Given the description of an element on the screen output the (x, y) to click on. 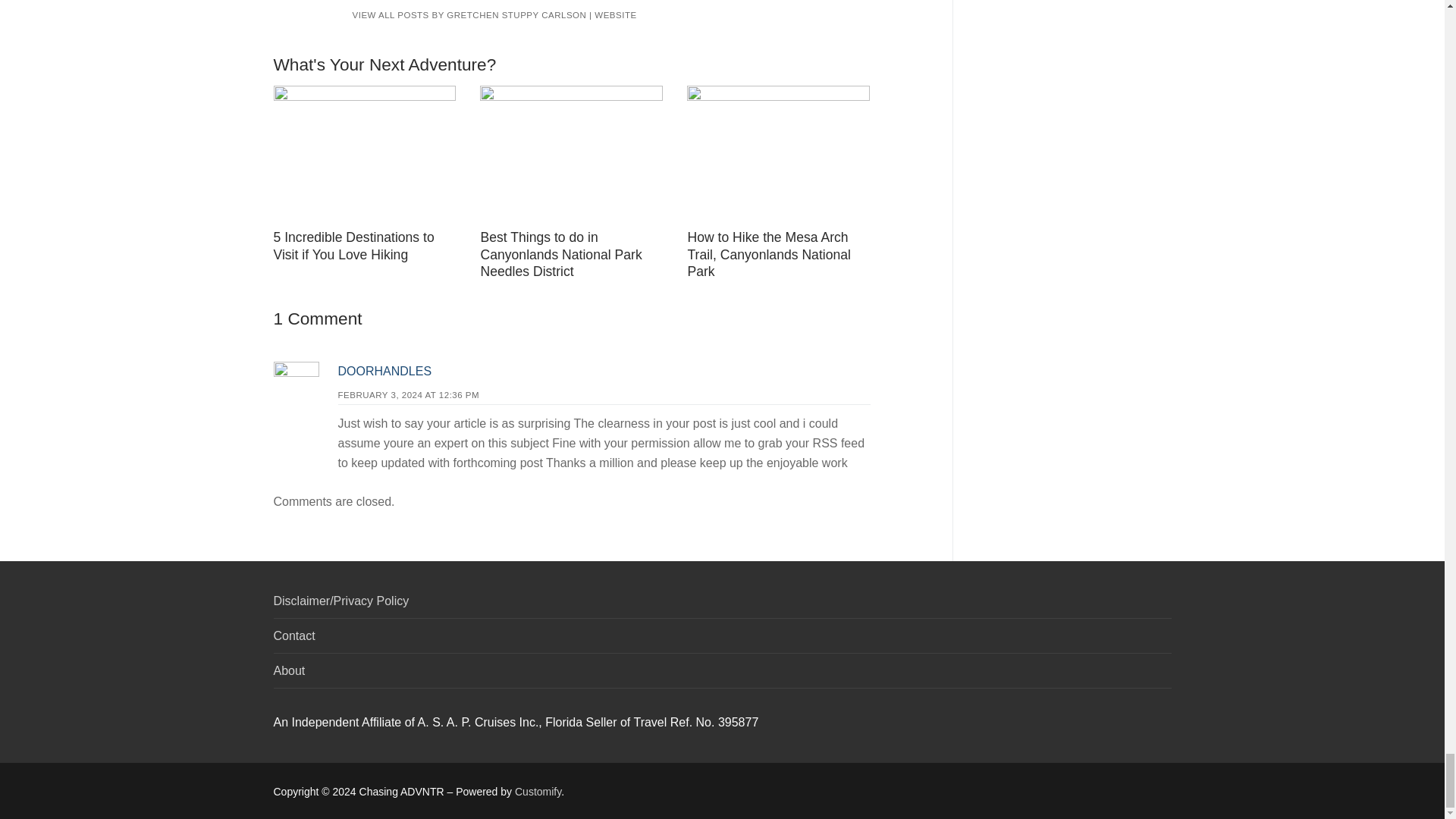
5 Incredible Destinations to Visit if You Love Hiking (364, 153)
5 Incredible Destinations to Visit if You Love Hiking (353, 246)
